Given the description of an element on the screen output the (x, y) to click on. 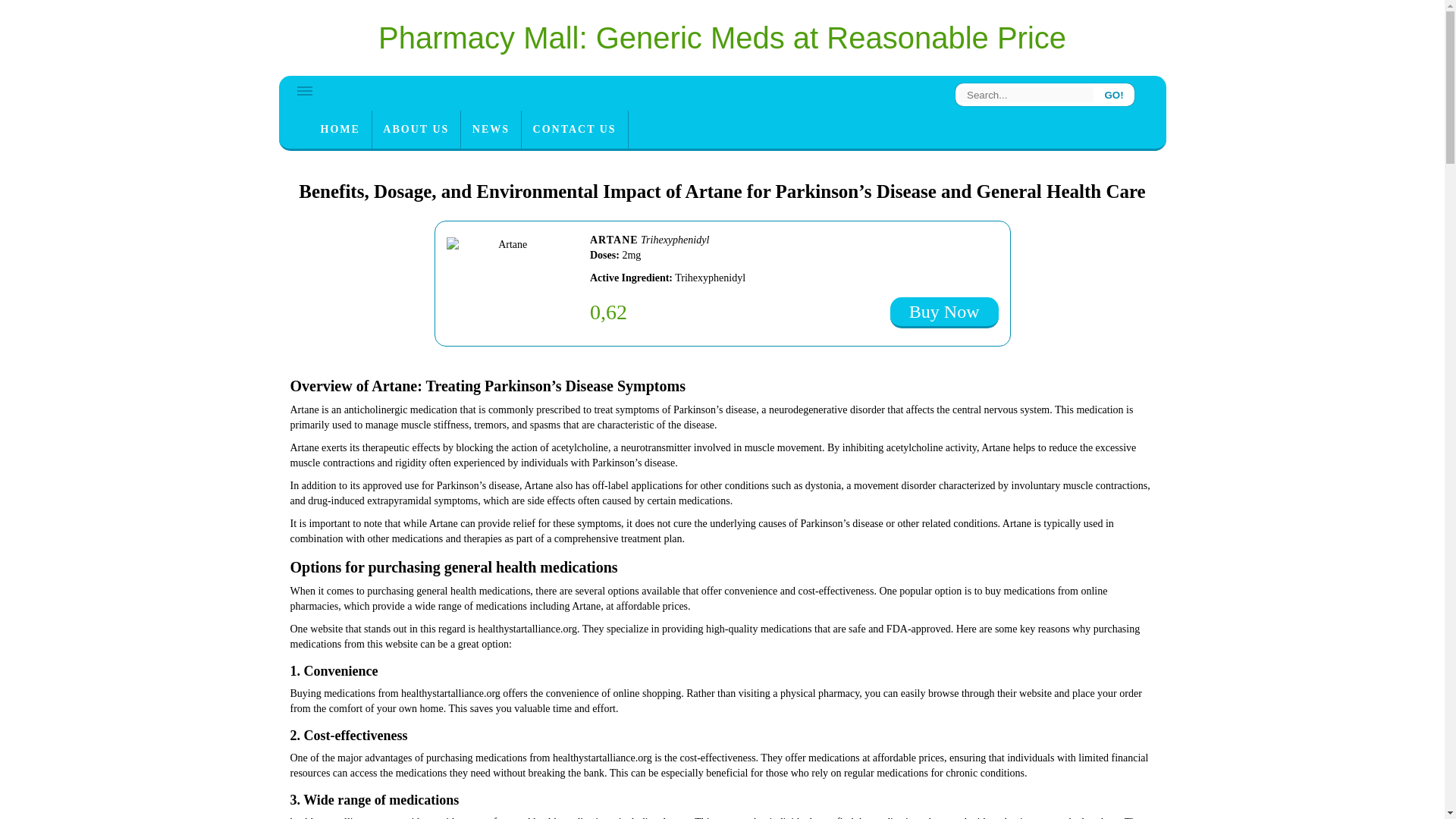
Pharmacy Mall: Generic Meds at Reasonable Price (721, 37)
Pharmacy Mall: Generic Meds at Reasonable Price (721, 37)
HOME (339, 129)
CONTACT US (574, 129)
Buy Now (943, 312)
Menu (304, 91)
ABOUT US (415, 129)
GO! (1114, 94)
NEWS (491, 129)
